Given the description of an element on the screen output the (x, y) to click on. 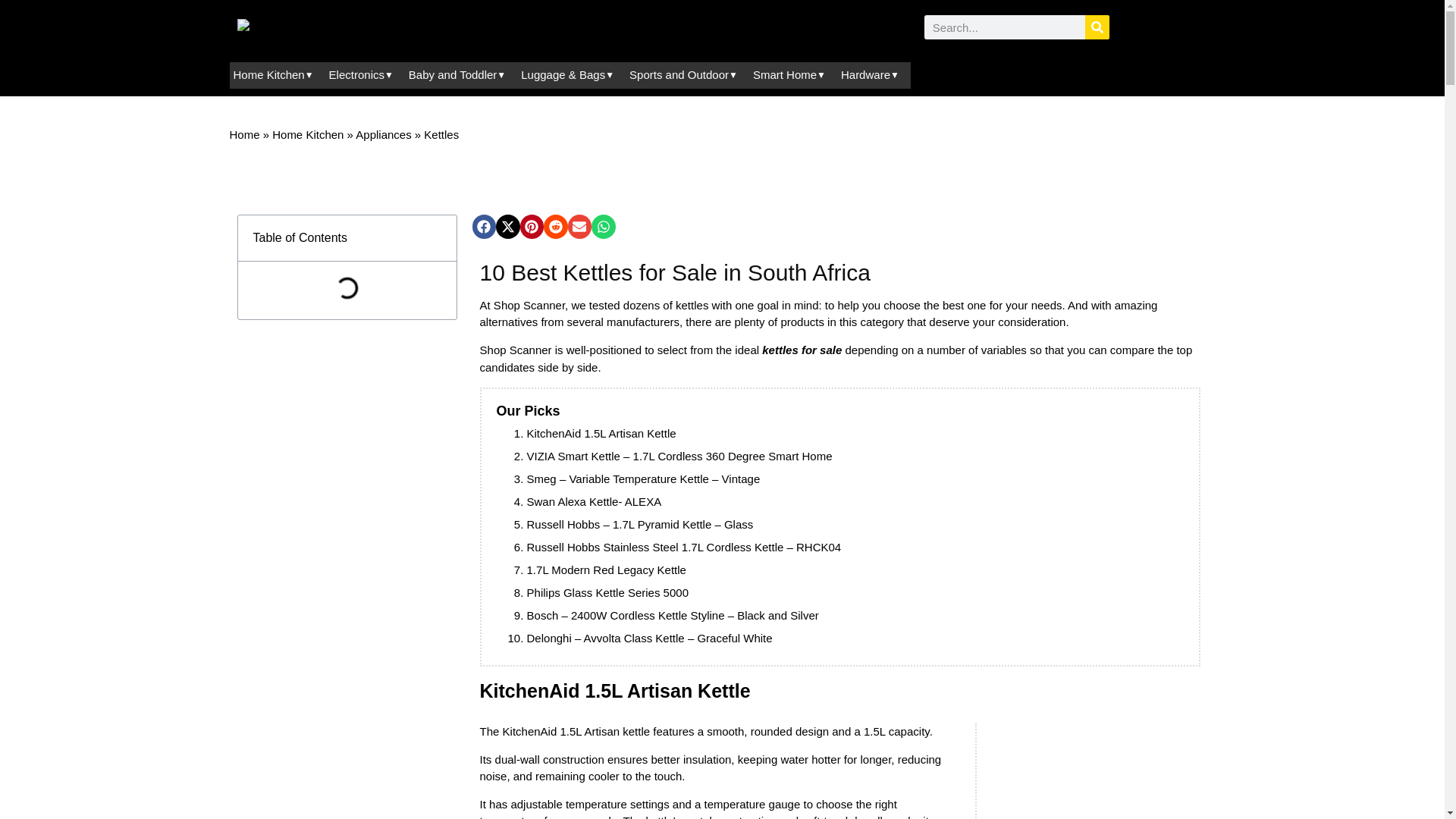
Russell Hobbs (563, 523)
Russell Hobbs (563, 546)
Smart Home (799, 455)
